Given the description of an element on the screen output the (x, y) to click on. 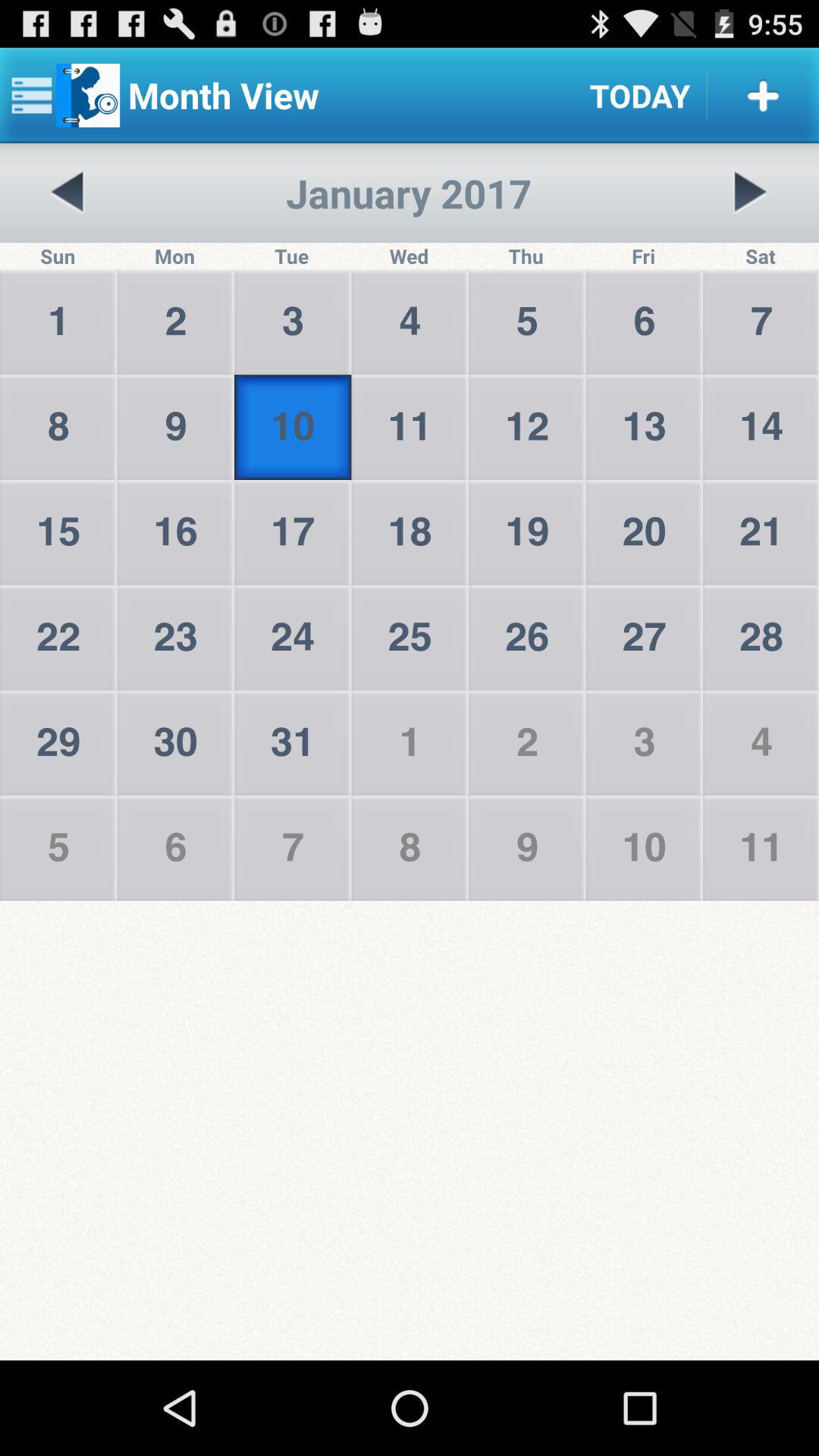
flip until the today (639, 95)
